Given the description of an element on the screen output the (x, y) to click on. 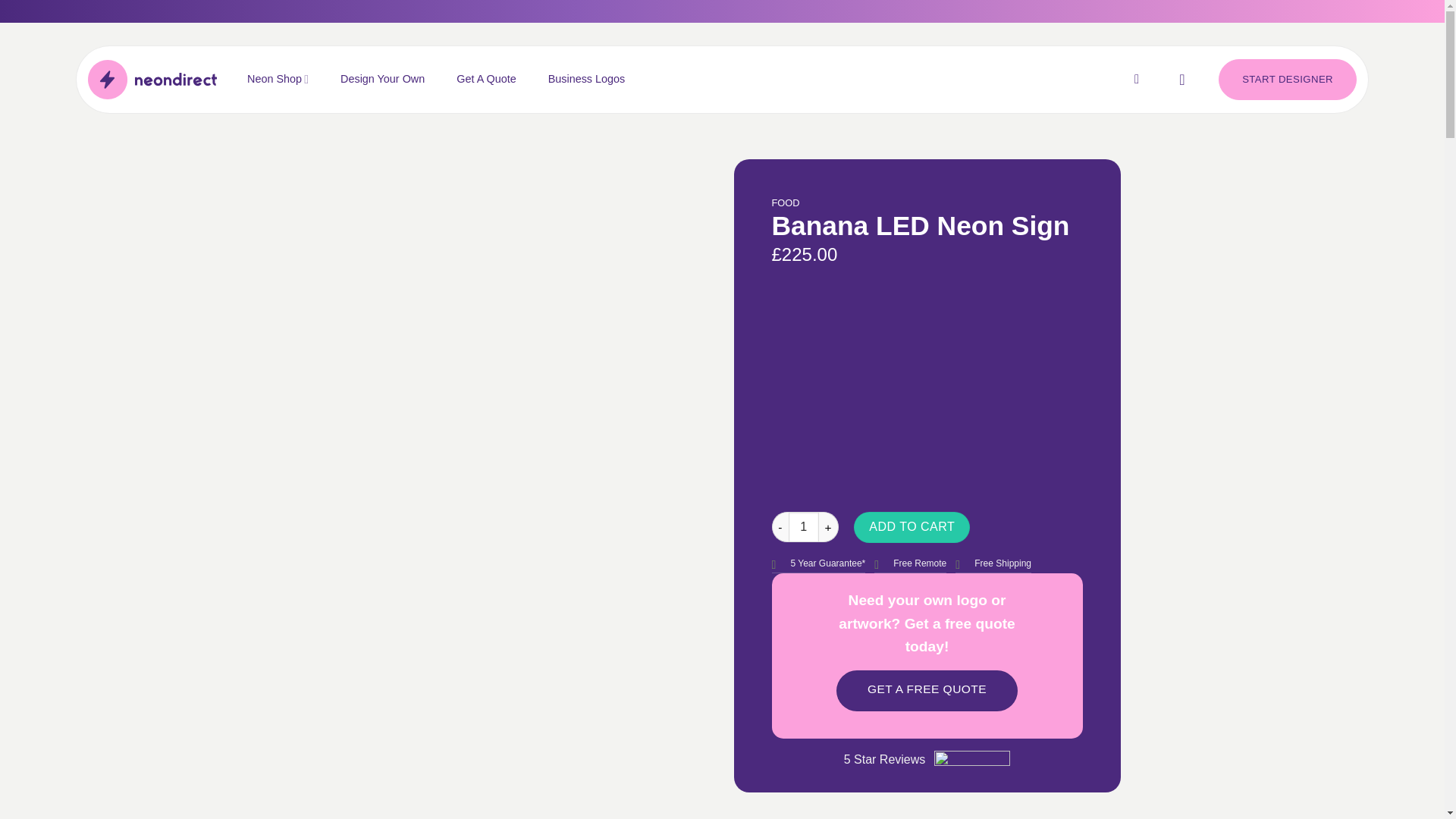
Cart (1187, 79)
Design Your Own (382, 79)
Neon Shop (277, 79)
Neon Direct - Custom Lights and Signs (151, 79)
Get A Quote (485, 79)
ADD TO CART (911, 526)
Business Logos (586, 79)
FOOD (785, 202)
1 (803, 526)
START DESIGNER (1287, 78)
